Given the description of an element on the screen output the (x, y) to click on. 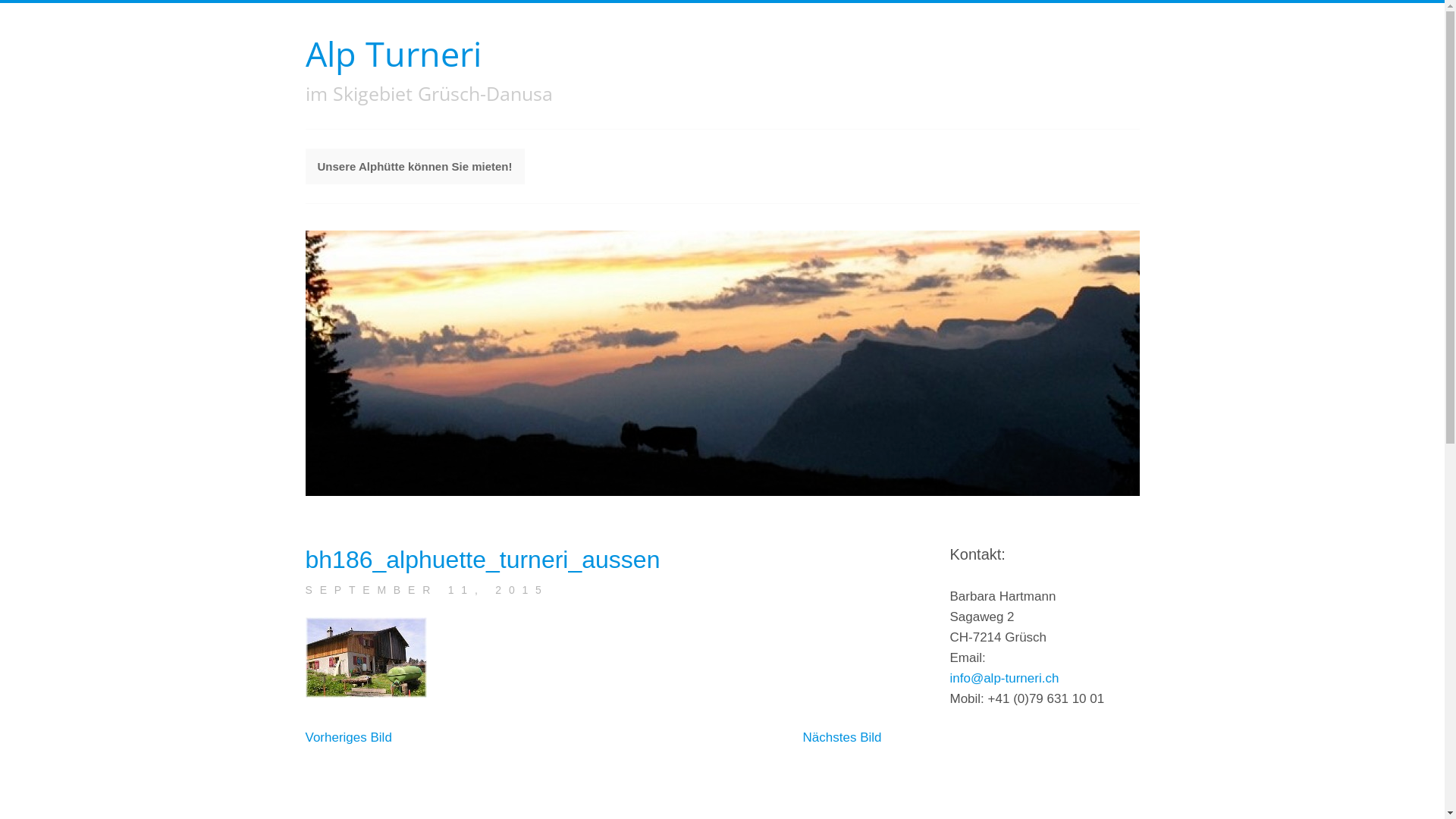
bh186_alphuette_turneri_aussen Element type: text (481, 559)
Vorheriges Bild Element type: text (347, 736)
info@alp-turneri.ch Element type: text (1003, 678)
Alp Turneri Element type: text (392, 53)
